Given the description of an element on the screen output the (x, y) to click on. 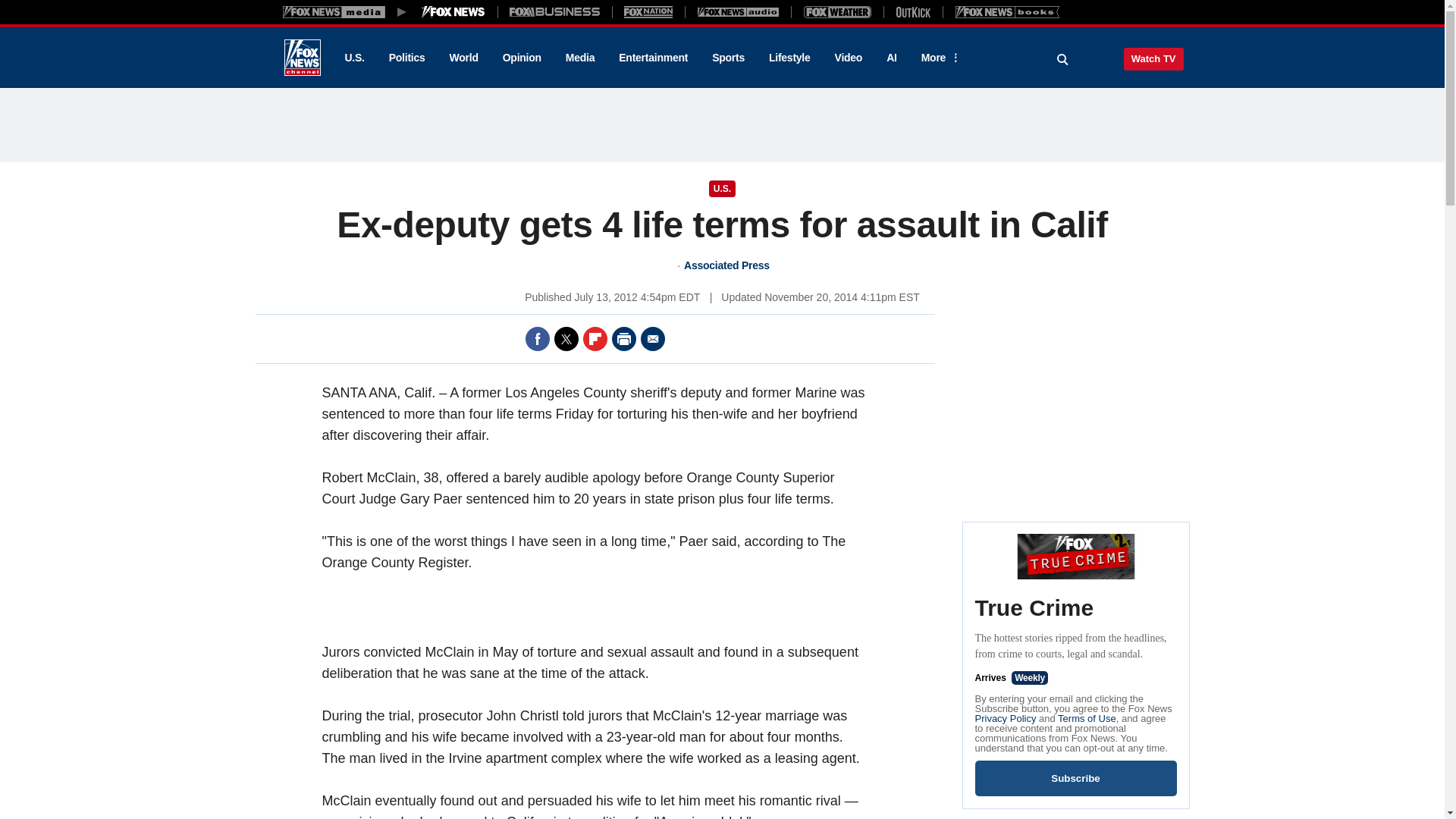
Fox Nation (648, 11)
Media (580, 57)
Fox News (301, 57)
Video (848, 57)
Outkick (912, 11)
Fox News Media (453, 11)
Entertainment (653, 57)
Sports (728, 57)
Fox Business (554, 11)
Lifestyle (789, 57)
AI (891, 57)
Watch TV (1153, 58)
More (938, 57)
Opinion (521, 57)
U.S. (353, 57)
